Given the description of an element on the screen output the (x, y) to click on. 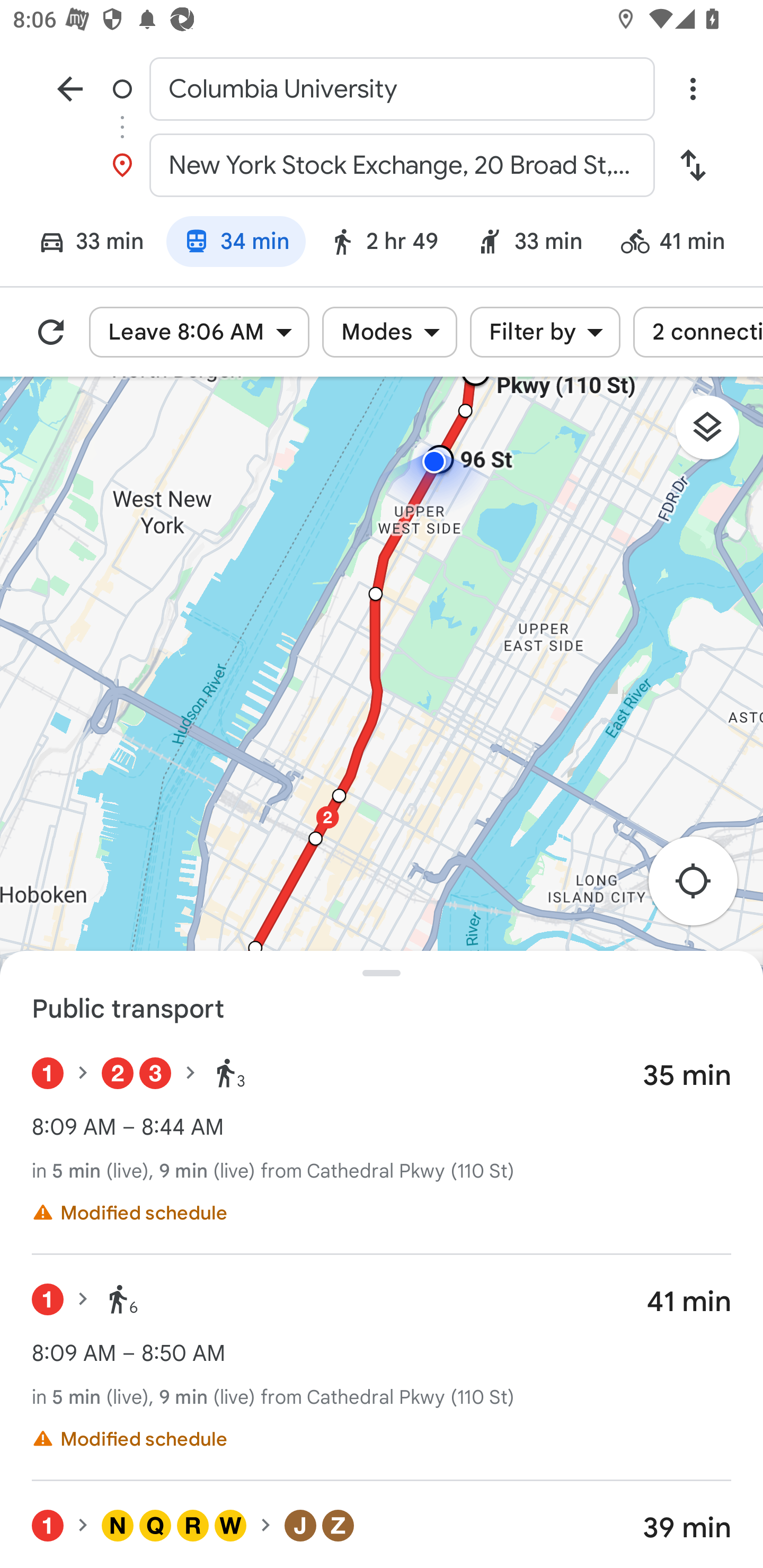
Navigate up (70, 88)
Overflow menu (692, 88)
Swap start and destination (692, 165)
Driving mode: 33 min 33 min (82, 244)
Walking mode: 2 hr 49 2 hr 49 (383, 244)
Ride service: 33 min 33 min (529, 244)
Bicycling mode: 41 min 41 min (681, 244)
Refresh (50, 332)
Leave 8:06 AM Leave 8:06 AM Leave 8:06 AM (199, 332)
Modes Modes Modes (389, 332)
Filter by Filter by Filter by (545, 332)
Layers (716, 433)
Re-center map to your location (702, 885)
